Given the description of an element on the screen output the (x, y) to click on. 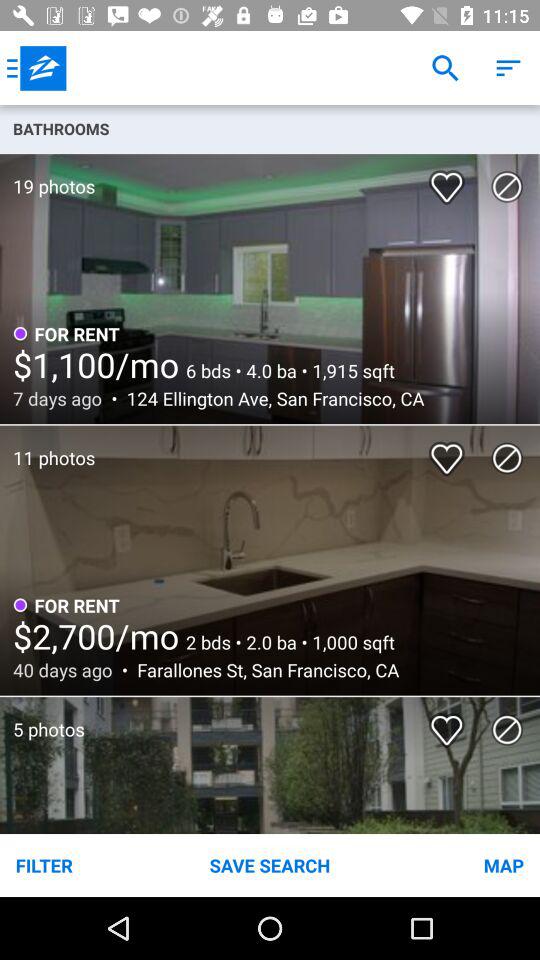
choose the 124 ellington ave (269, 398)
